Given the description of an element on the screen output the (x, y) to click on. 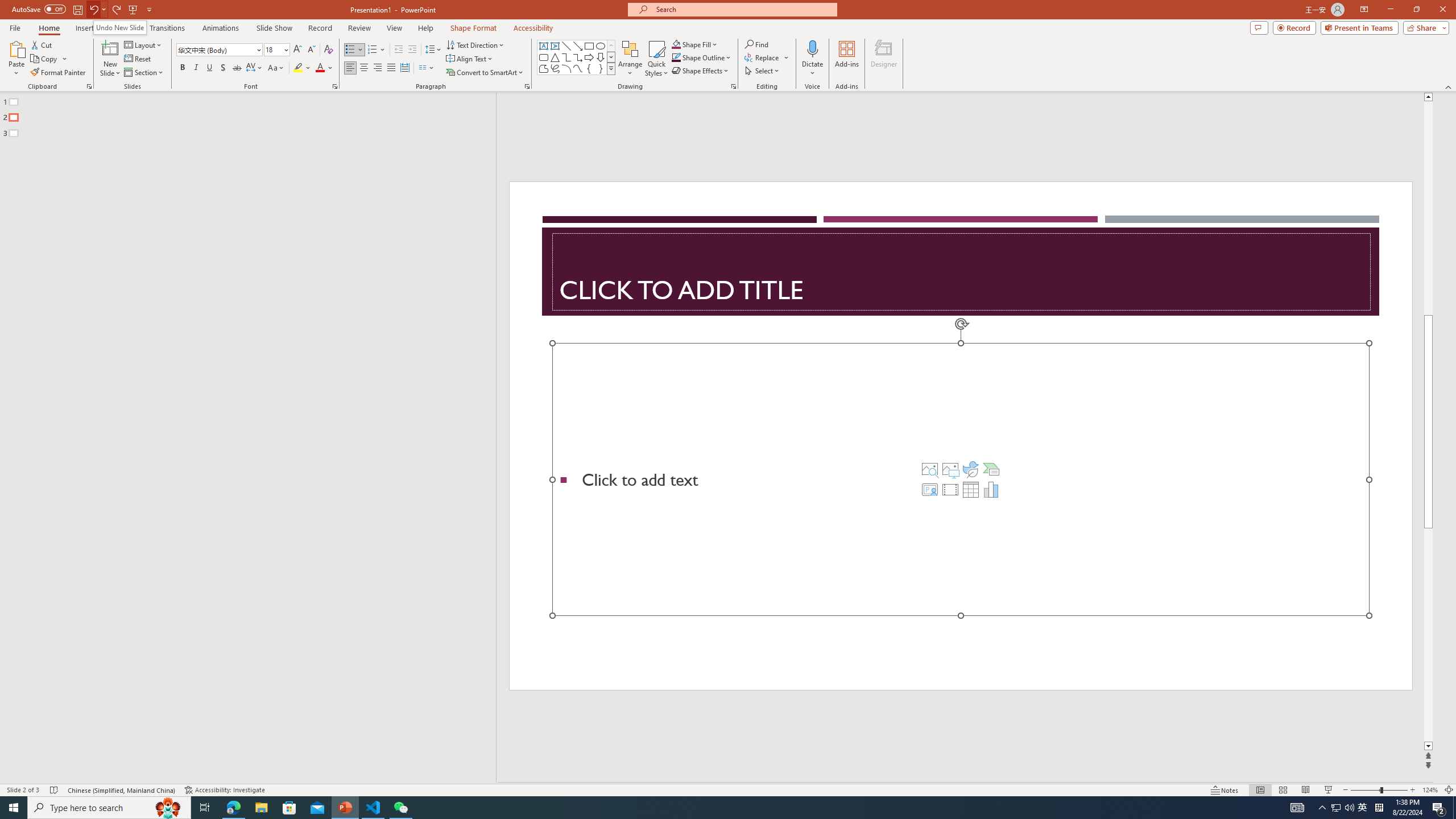
Outline (252, 114)
Shape Fill Orange, Accent 2 (675, 44)
Content Placeholder (960, 479)
Stock Images (929, 469)
